Given the description of an element on the screen output the (x, y) to click on. 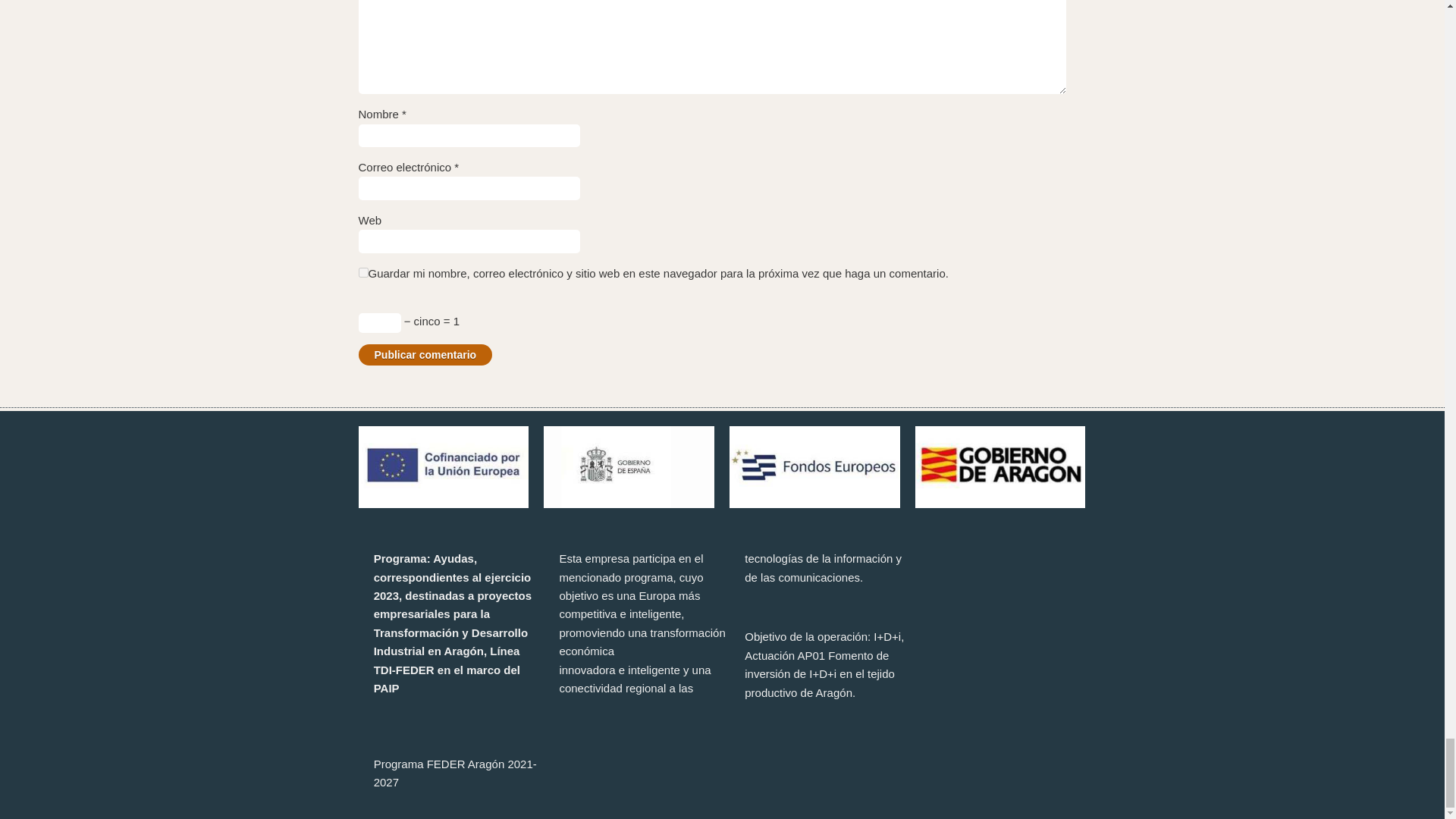
Publicar comentario (425, 354)
yes (363, 271)
Publicar comentario (425, 354)
